Given the description of an element on the screen output the (x, y) to click on. 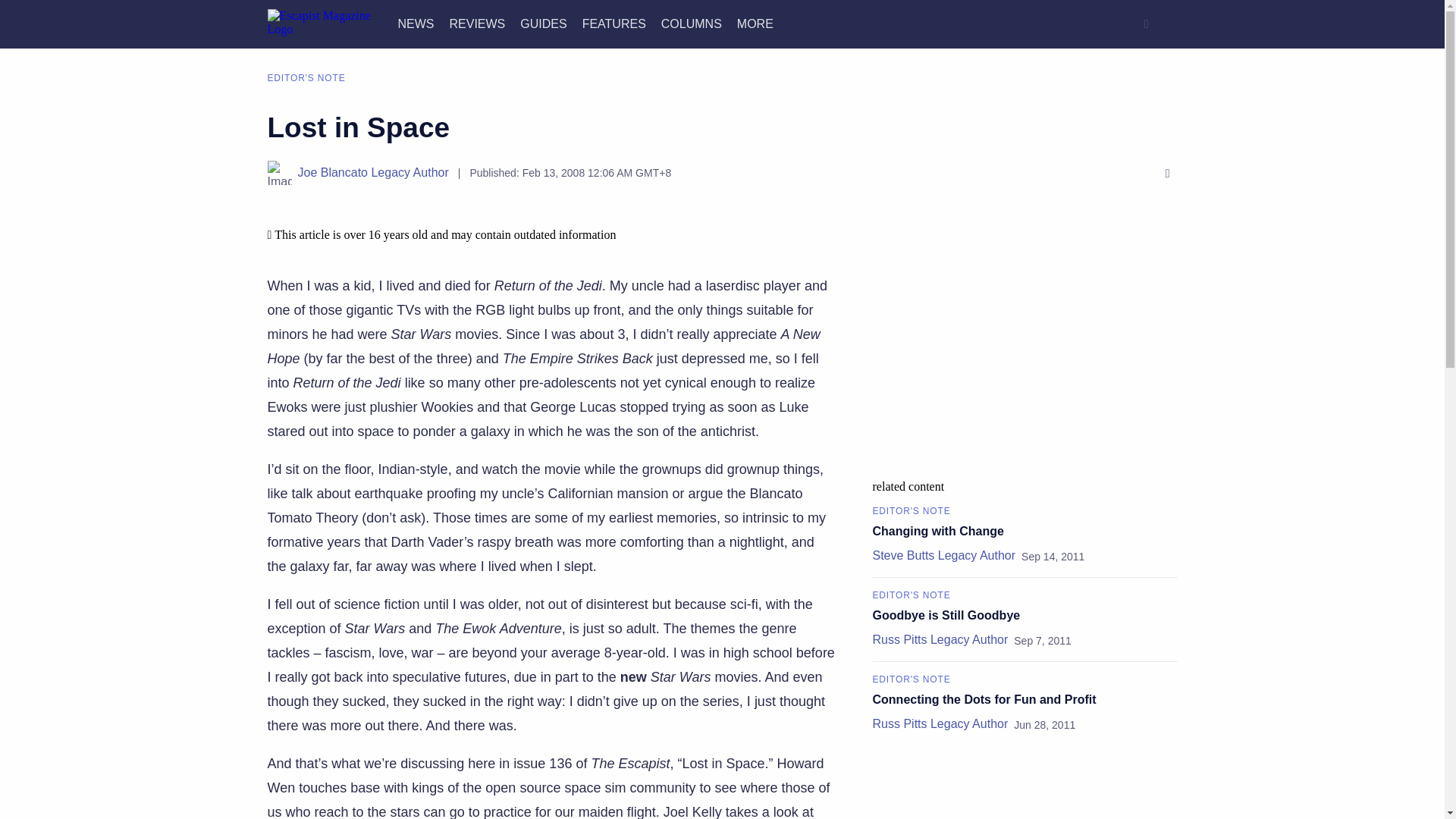
GUIDES (542, 23)
COLUMNS (691, 23)
FEATURES (614, 23)
NEWS (415, 23)
REVIEWS (476, 23)
